Given the description of an element on the screen output the (x, y) to click on. 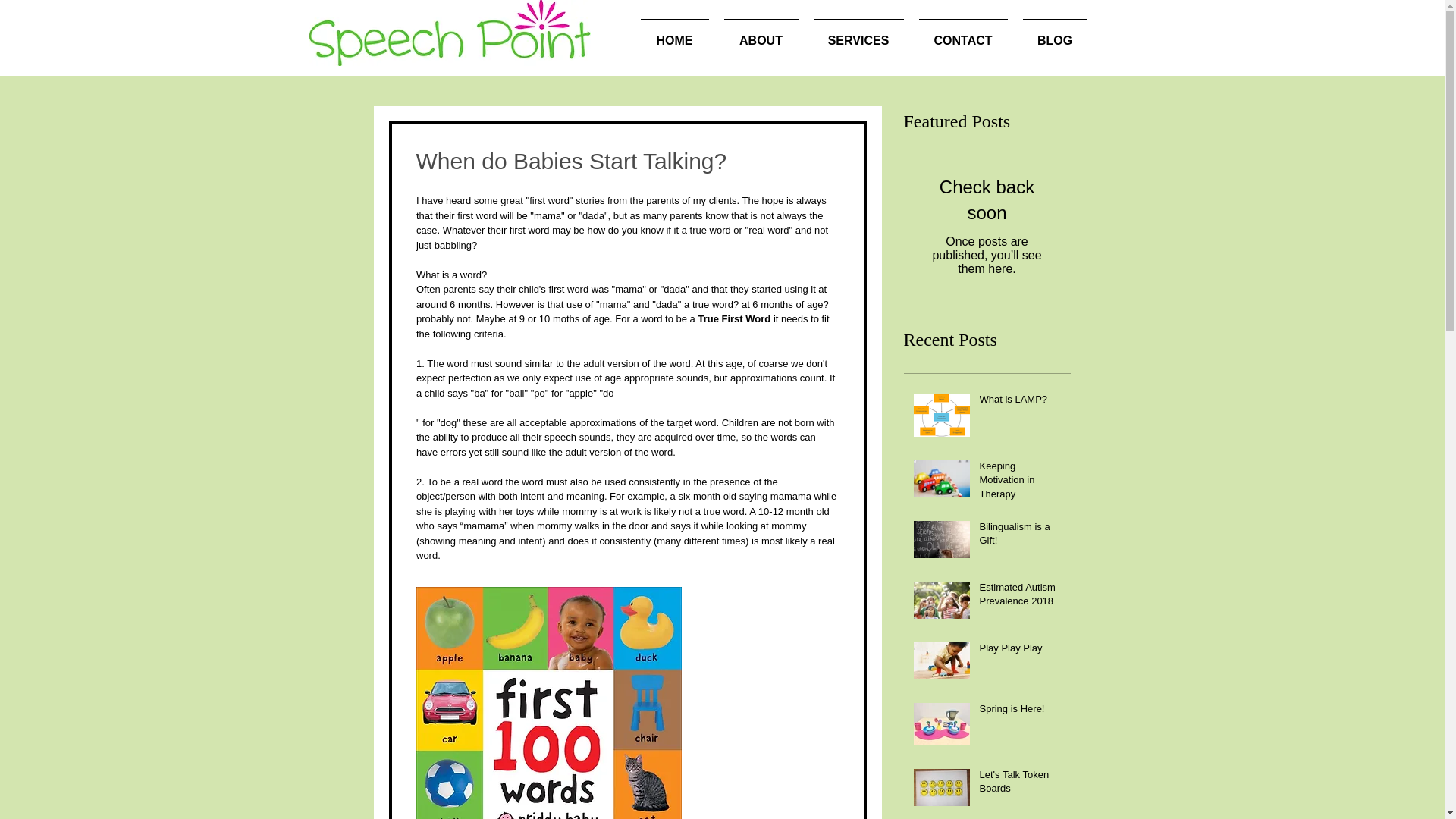
CONTACT (962, 33)
Play Play Play (1020, 650)
HOME (673, 33)
ABOUT (760, 33)
Keeping Motivation in Therapy (1020, 482)
Estimated Autism Prevalence 2018 (1020, 597)
Spring is Here! (1020, 711)
Let's Talk Token Boards (1020, 784)
SERVICES (858, 33)
BLOG (1054, 33)
